Given the description of an element on the screen output the (x, y) to click on. 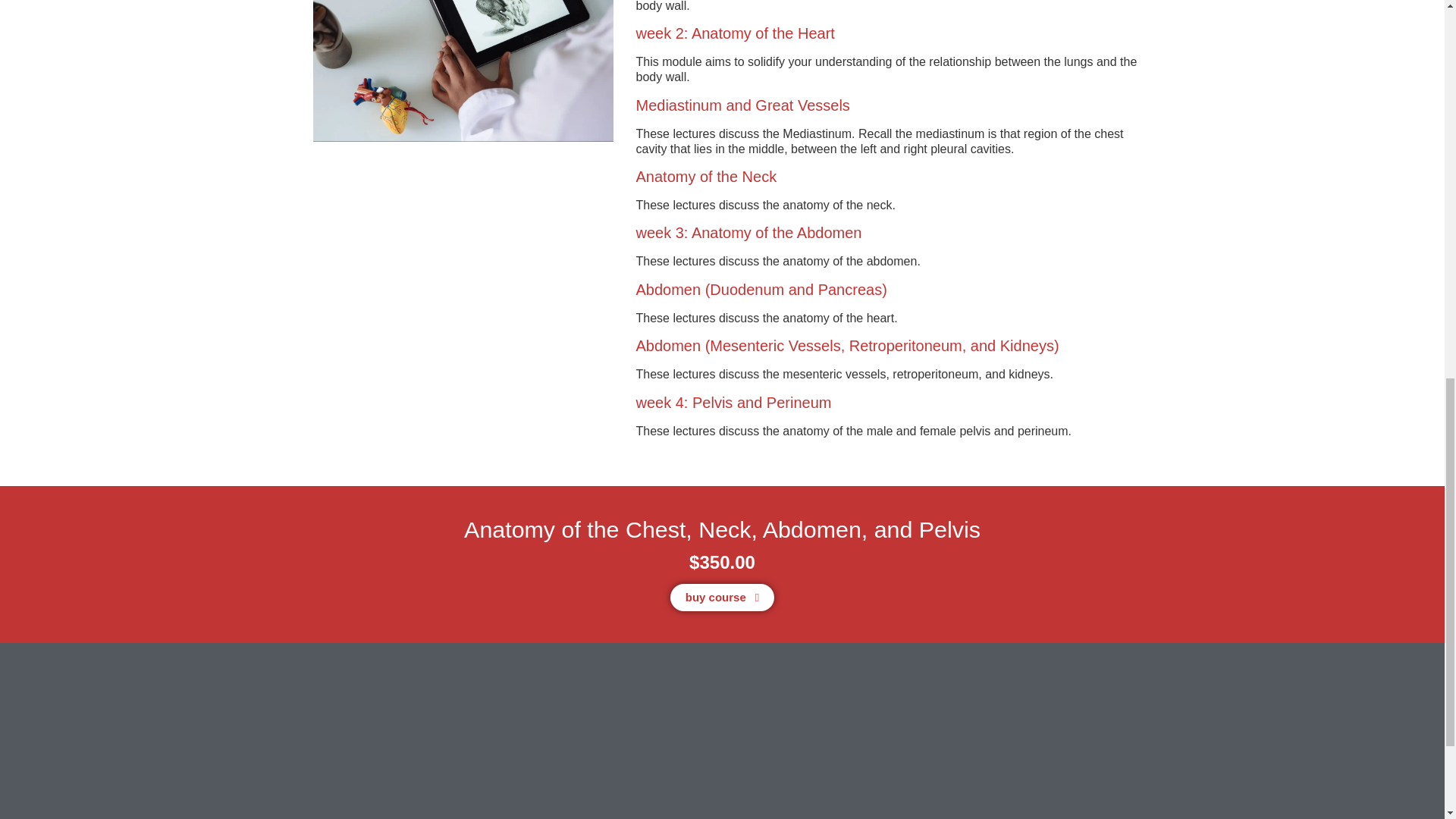
buy course (721, 596)
course12 (462, 70)
